Given the description of an element on the screen output the (x, y) to click on. 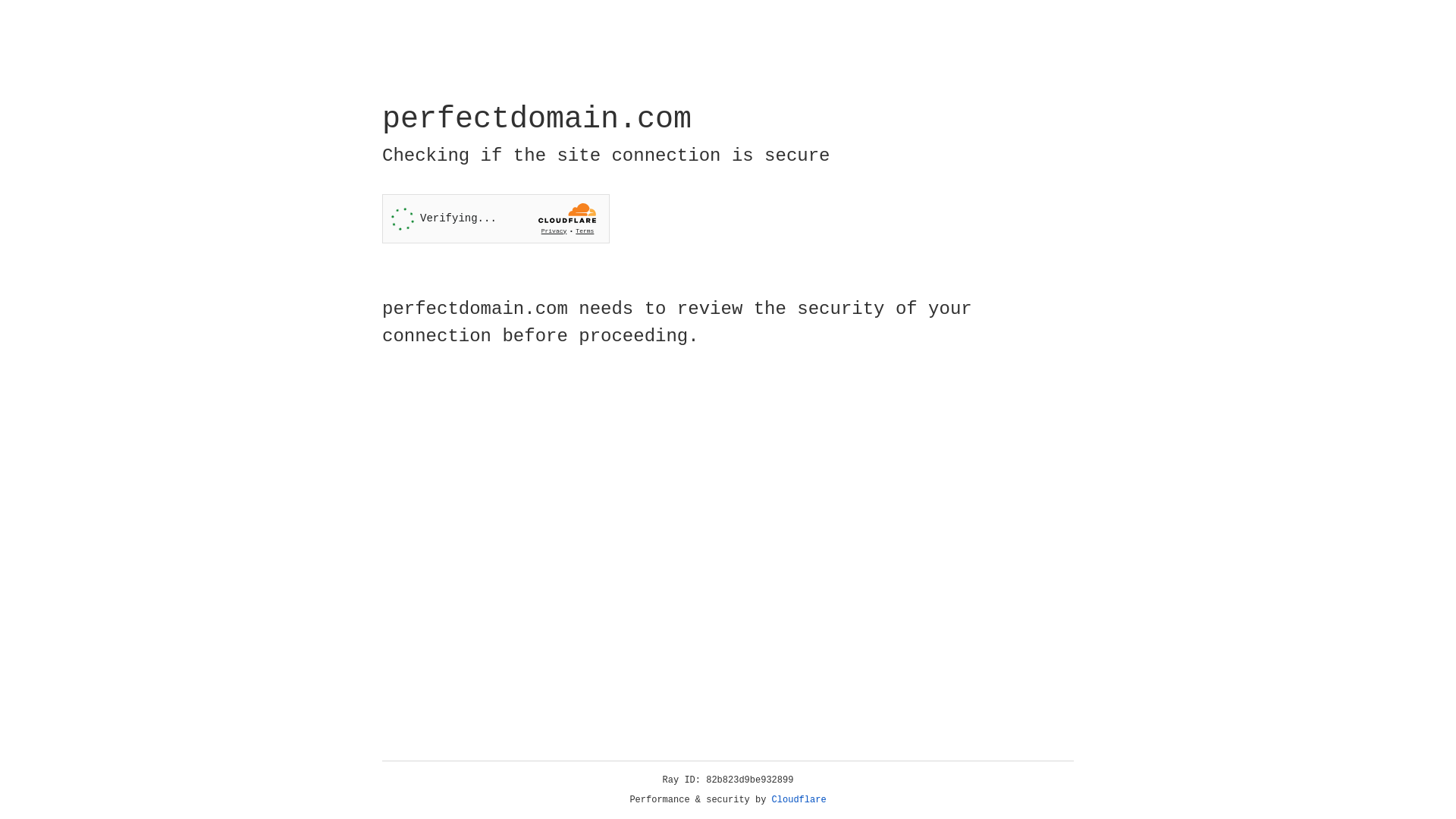
Widget containing a Cloudflare security challenge Element type: hover (495, 218)
Cloudflare Element type: text (798, 799)
